Given the description of an element on the screen output the (x, y) to click on. 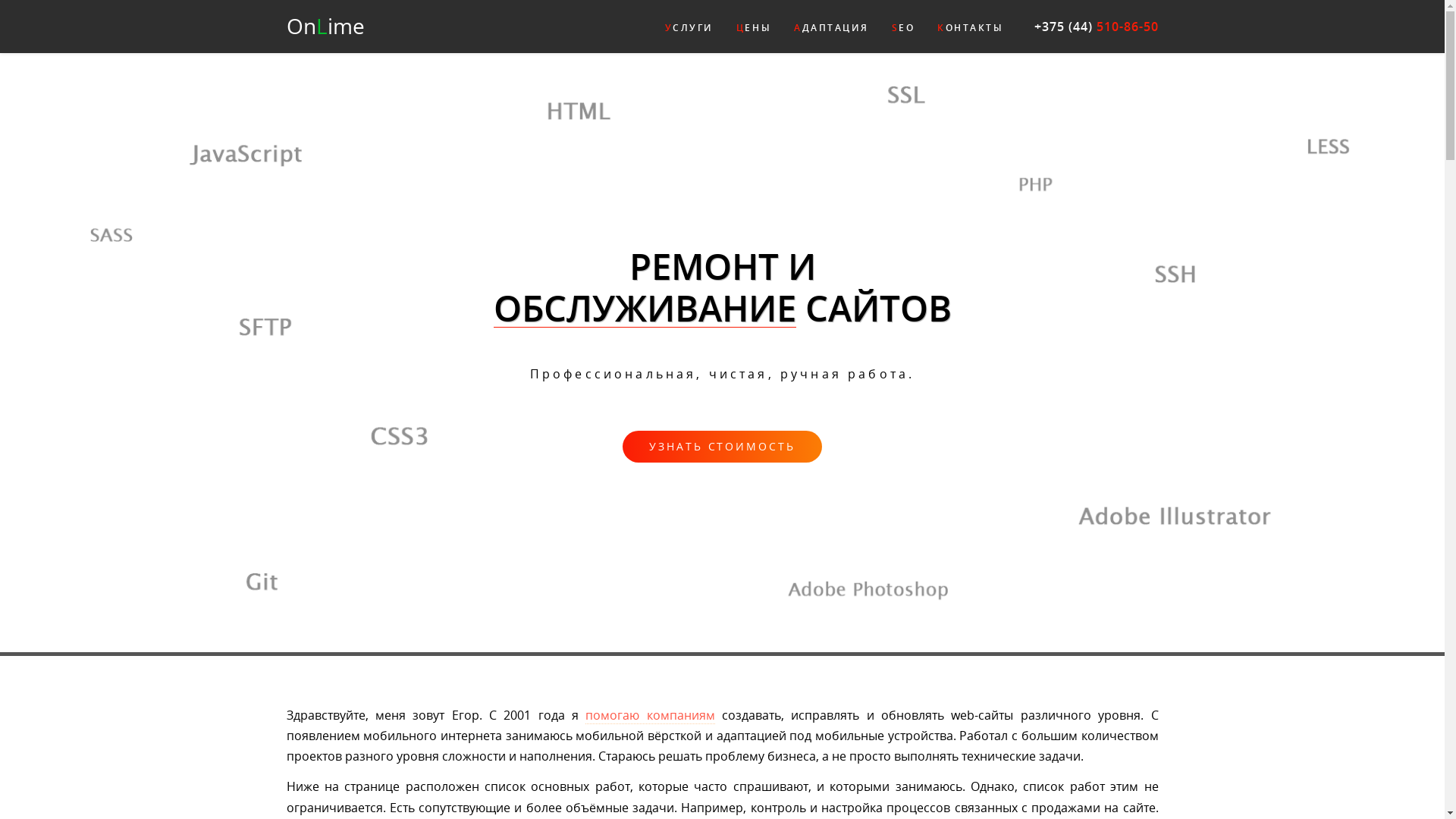
SEO Element type: text (903, 27)
OnLime Element type: text (325, 26)
+375 (44) 510-86-50 Element type: text (1096, 26)
